Given the description of an element on the screen output the (x, y) to click on. 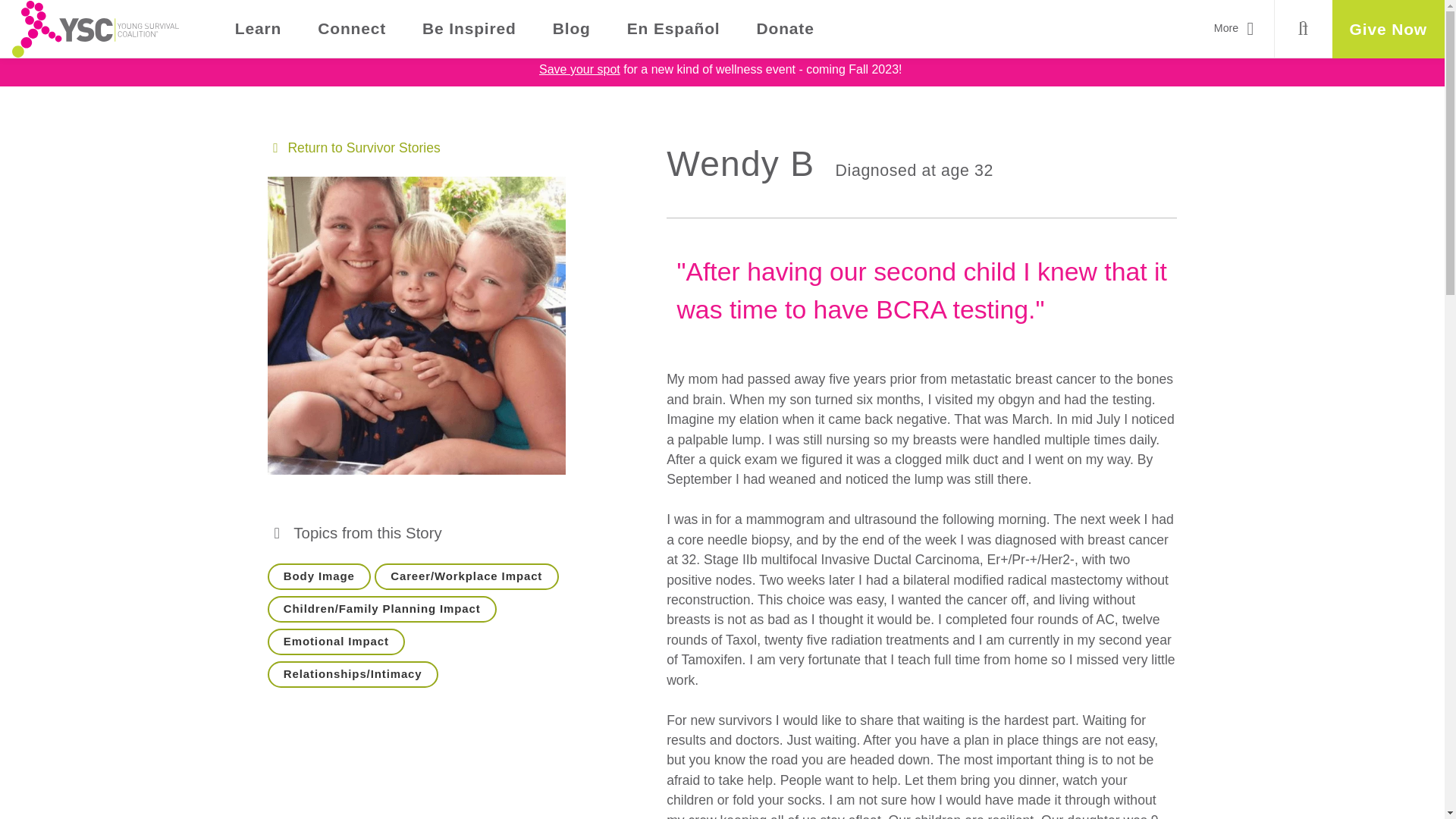
Learn (257, 28)
Search (1303, 29)
Connect (351, 28)
Topic: Emotional Impact (335, 641)
Topic: Body Image (317, 576)
Return to Survivor Stories (352, 147)
